Given the description of an element on the screen output the (x, y) to click on. 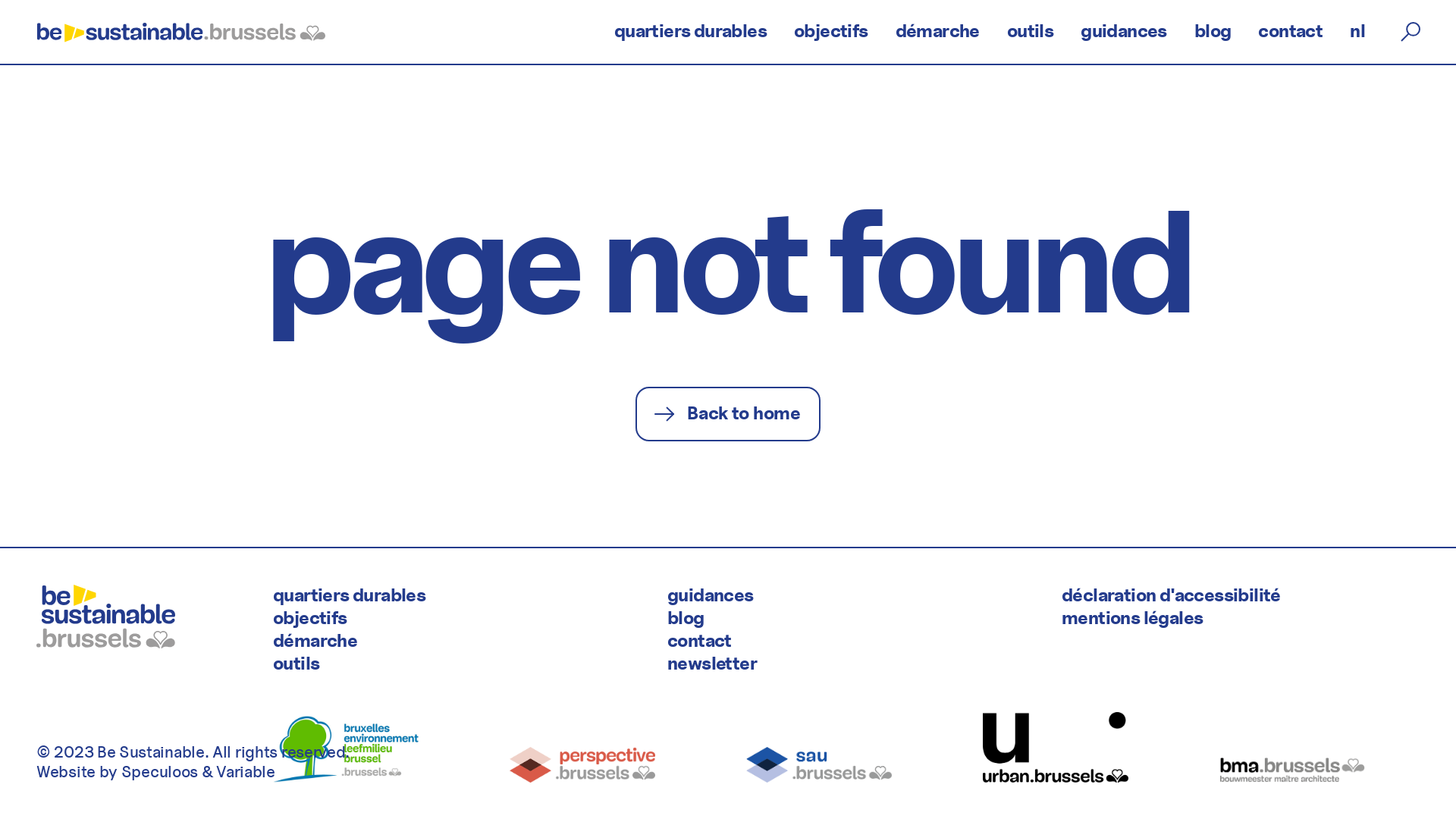
outils Element type: text (1030, 31)
blog Element type: text (1212, 31)
outils Element type: text (451, 663)
nl Element type: text (1357, 31)
Back to home Element type: text (727, 413)
blog Element type: text (846, 618)
guidances Element type: text (846, 595)
objectifs Element type: text (451, 618)
Variable Element type: text (245, 772)
guidances Element type: text (1123, 31)
contact Element type: text (846, 641)
contact Element type: text (1290, 31)
quartiers durables Element type: text (690, 31)
objectifs Element type: text (830, 31)
newsletter Element type: text (846, 663)
Speculoos Element type: text (159, 772)
quartiers durables Element type: text (451, 595)
